Given the description of an element on the screen output the (x, y) to click on. 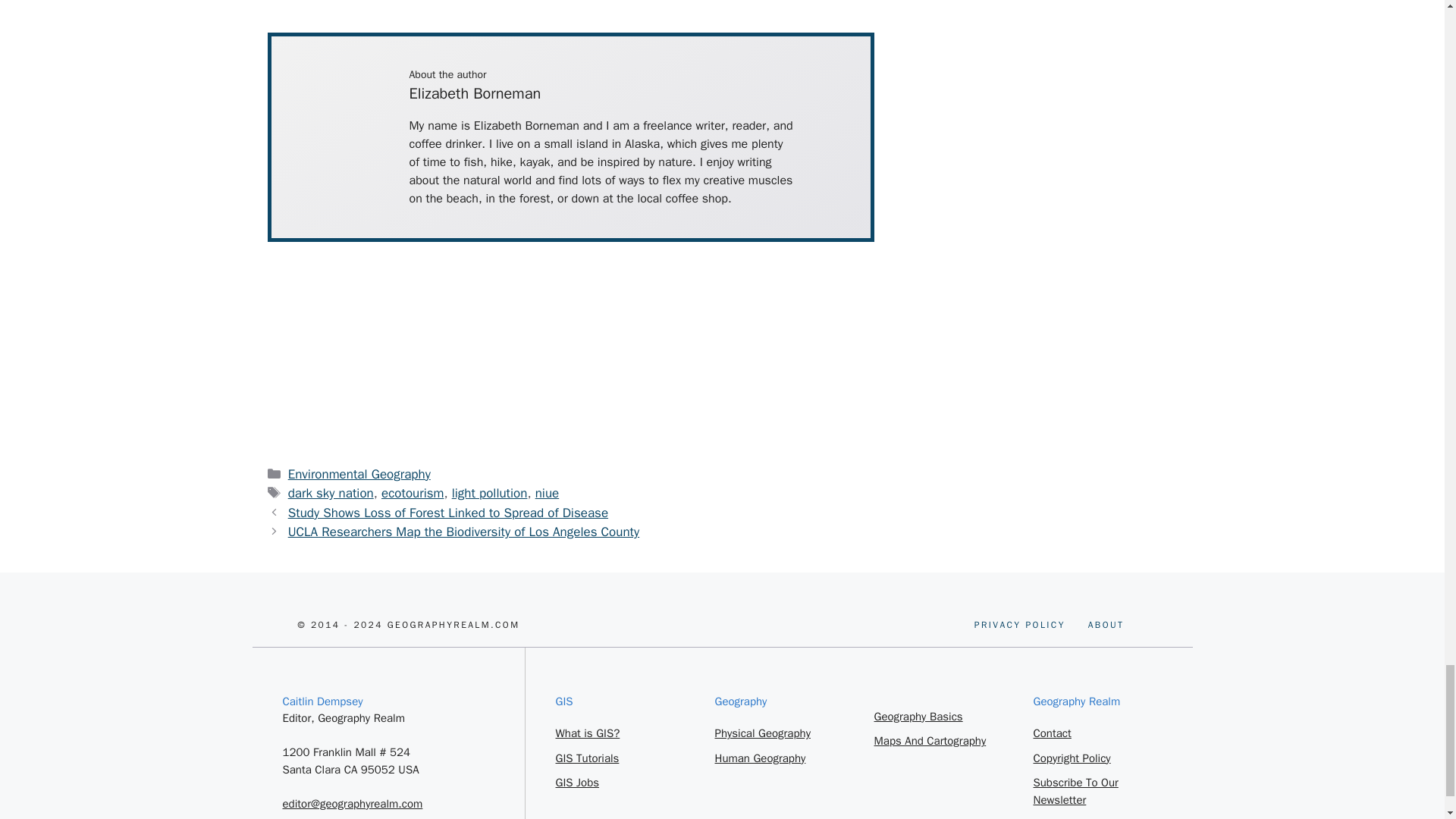
UCLA Researchers Map the Biodiversity of Los Angeles County (463, 531)
Environmental Geography (359, 474)
light pollution (1105, 624)
niue (489, 493)
PRIVACY POLICY (547, 493)
dark sky nation (1019, 624)
Study Shows Loss of Forest Linked to Spread of Disease (331, 493)
ecotourism (448, 512)
